Given the description of an element on the screen output the (x, y) to click on. 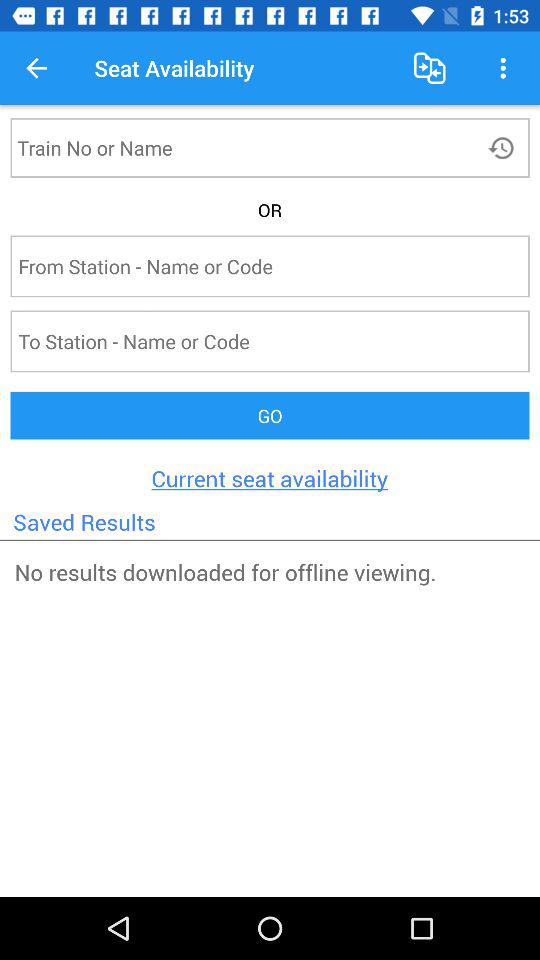
enter station information (237, 266)
